Given the description of an element on the screen output the (x, y) to click on. 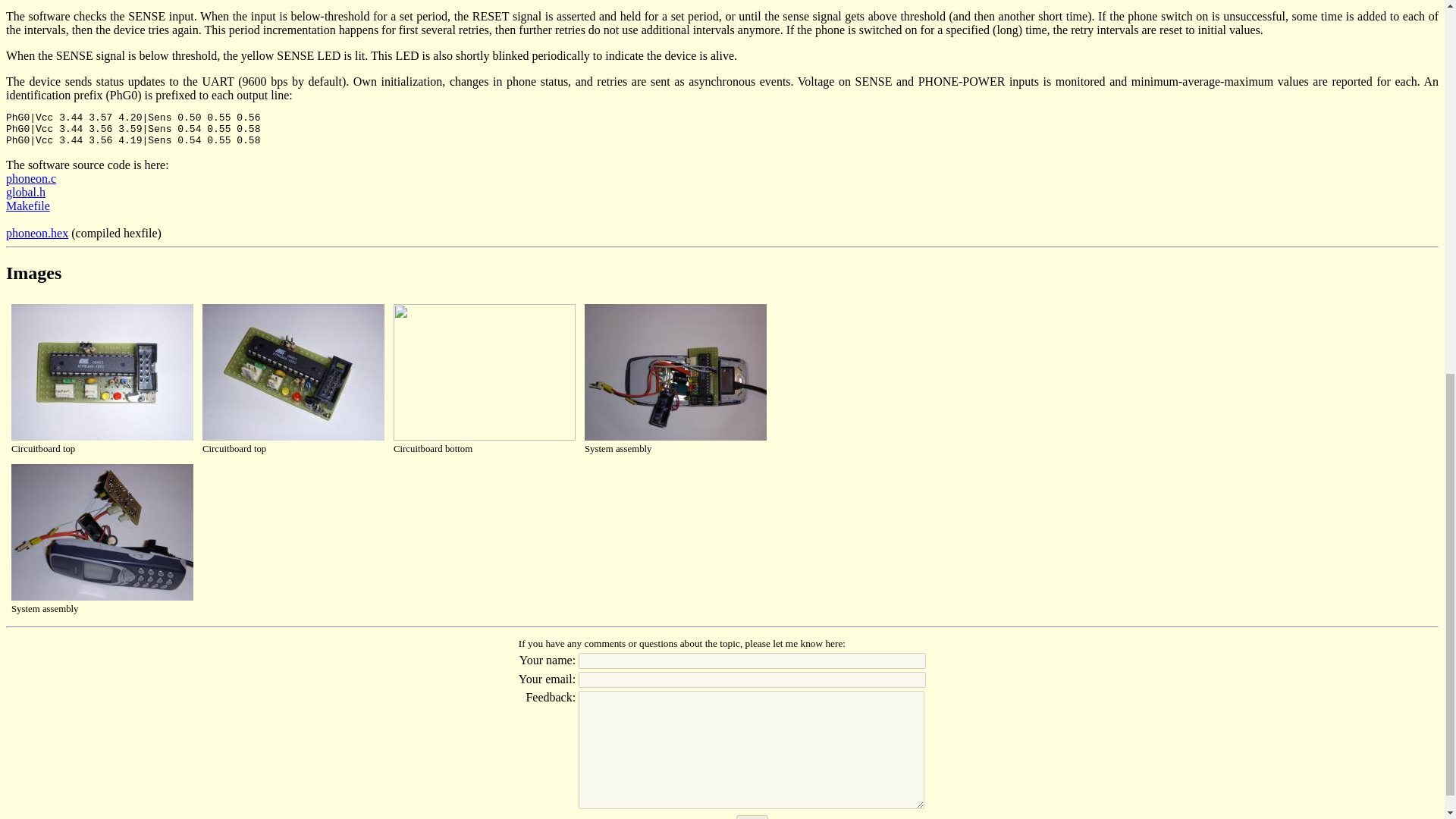
Click here to enlarge (293, 436)
phoneon.c (30, 178)
Click here to enlarge (484, 436)
Click here to enlarge (102, 436)
global.h (25, 192)
Click here to enlarge (102, 597)
phoneon.hex (36, 232)
Click here to enlarge (676, 436)
Makefile (27, 205)
